Given the description of an element on the screen output the (x, y) to click on. 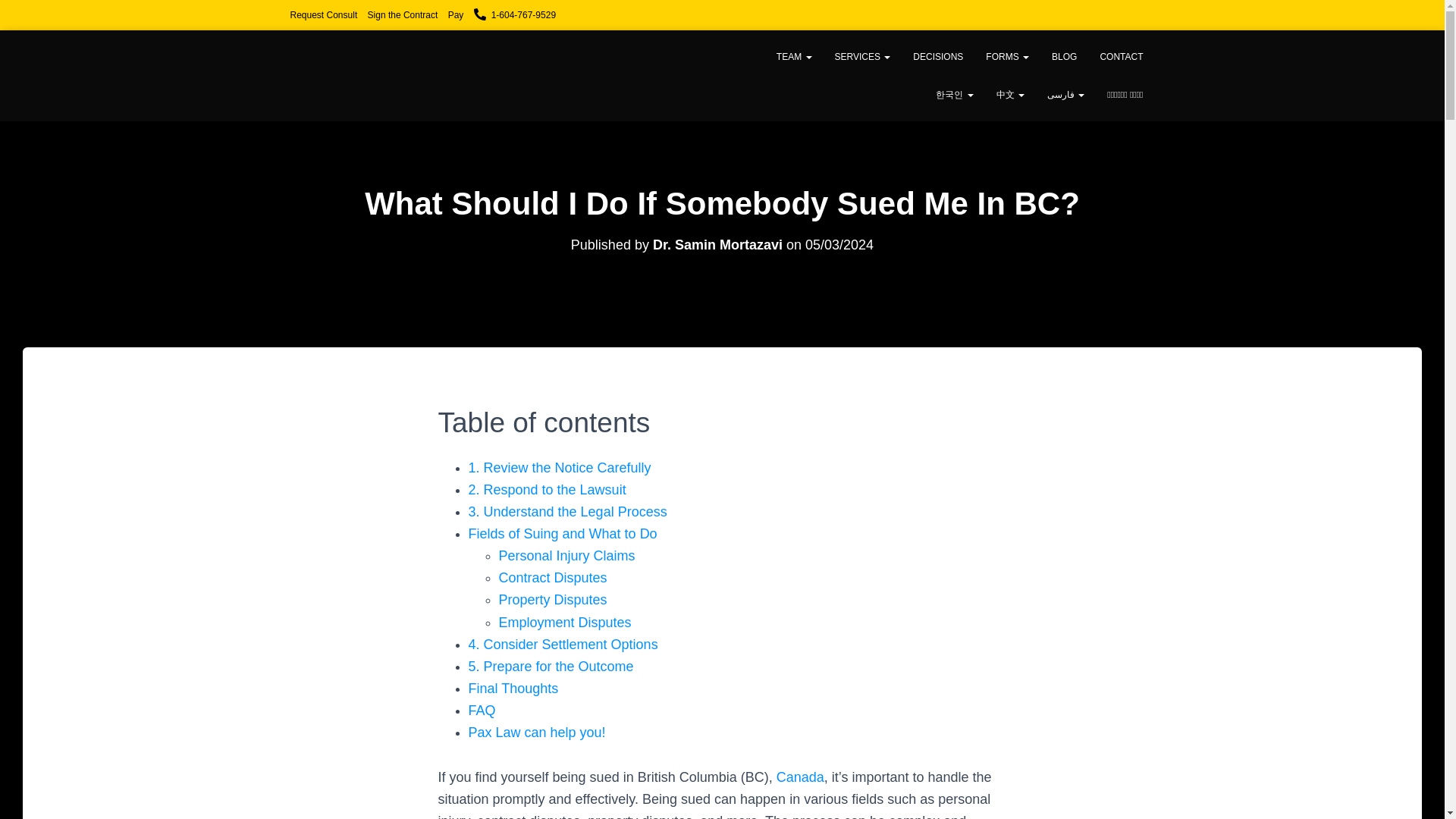
Pax Law Corporation (519, 75)
Sign the Contract (403, 15)
Request Consult (322, 15)
TEAM (794, 56)
Team (794, 56)
1-604-767-9529 (515, 15)
Sign the Contract (403, 15)
1-604-767-9529 (515, 15)
Request Consult (322, 15)
